Given the description of an element on the screen output the (x, y) to click on. 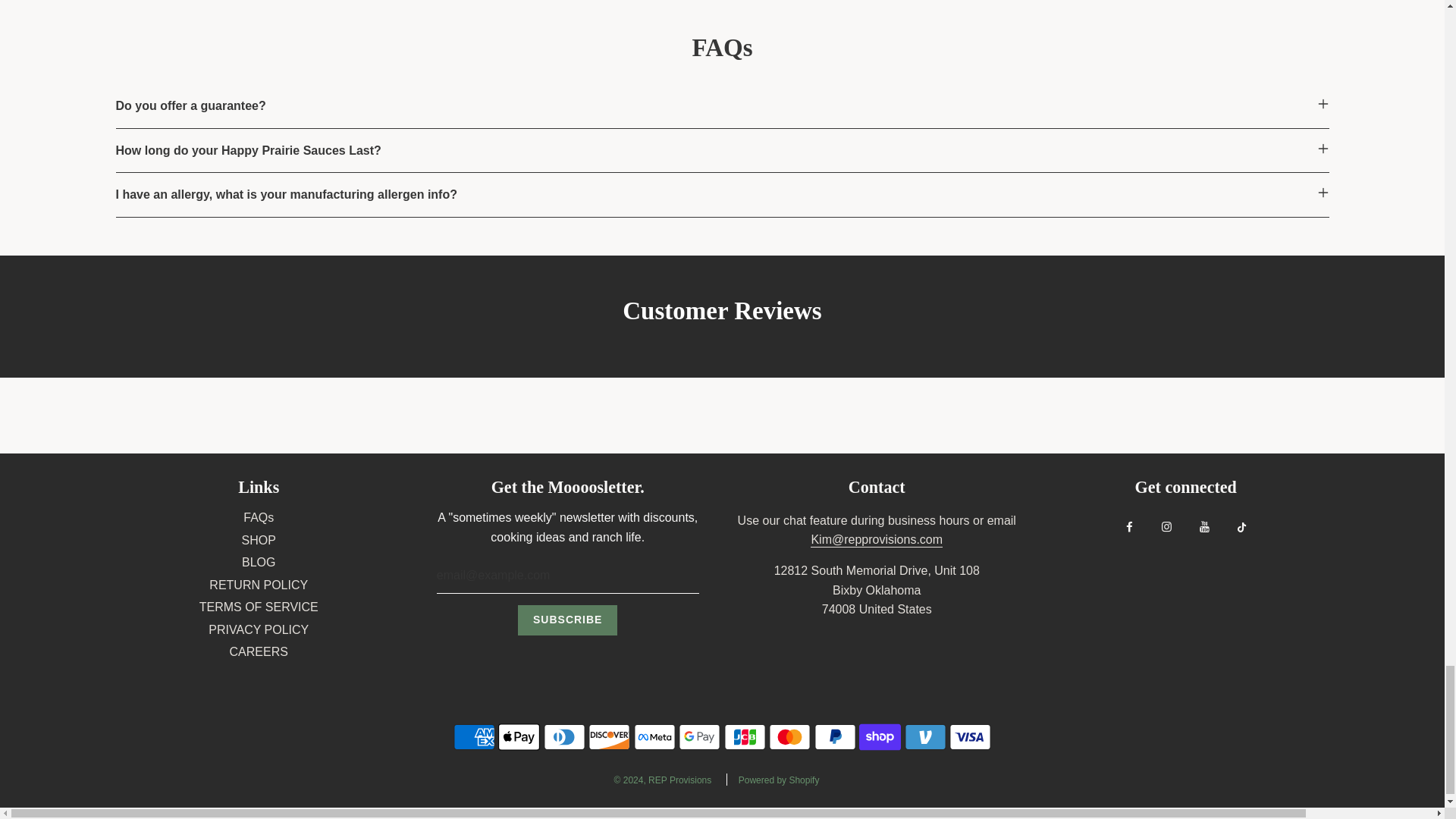
Discover (609, 736)
Customer Reviews (722, 316)
Diners Club (564, 736)
American Express (473, 736)
Meta Pay (654, 736)
Apple Pay (518, 736)
Google Pay (699, 736)
Subscribe (567, 620)
